Given the description of an element on the screen output the (x, y) to click on. 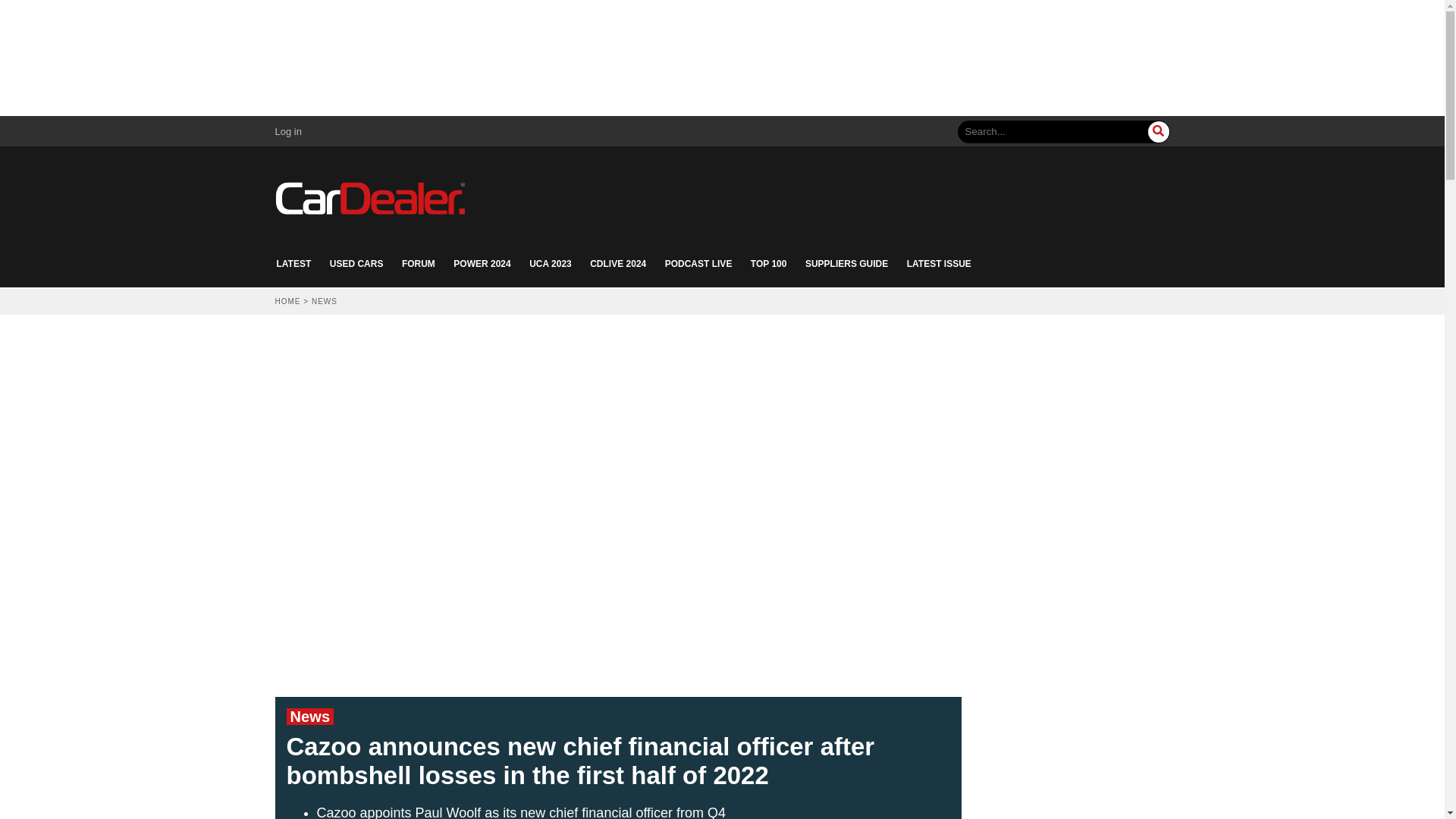
UCA 2023 (550, 263)
LATEST ISSUE (939, 263)
LATEST (293, 263)
HOME (287, 301)
POWER 2024 (481, 263)
FORUM (418, 263)
USED CARS (357, 263)
News (309, 716)
SUPPLIERS GUIDE (846, 263)
PODCAST LIVE (698, 263)
NEWS (324, 301)
CDLIVE 2024 (617, 263)
Log in (288, 131)
TOP 100 (769, 263)
